Given the description of an element on the screen output the (x, y) to click on. 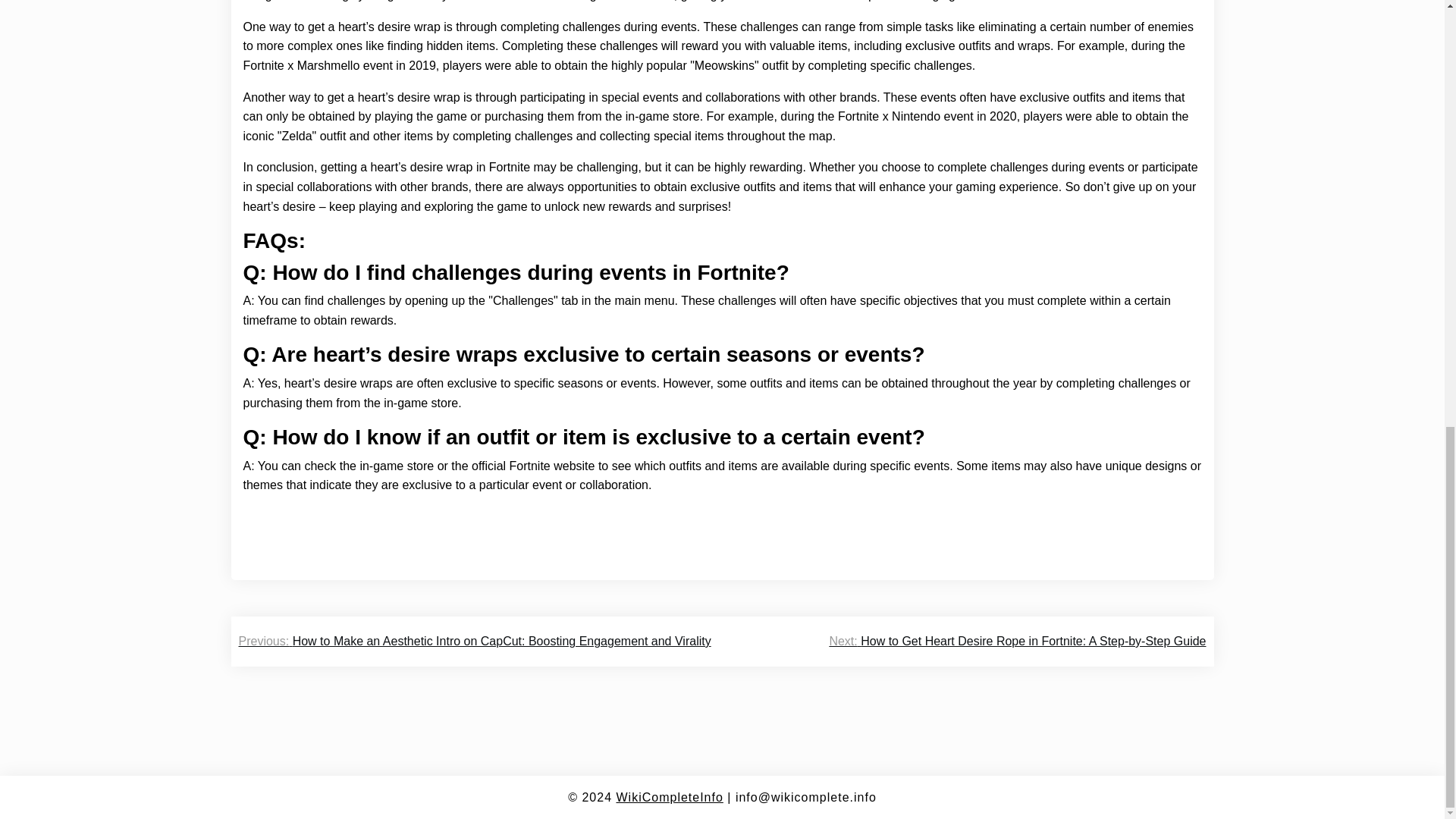
WikiCompleteInfo (668, 797)
